Given the description of an element on the screen output the (x, y) to click on. 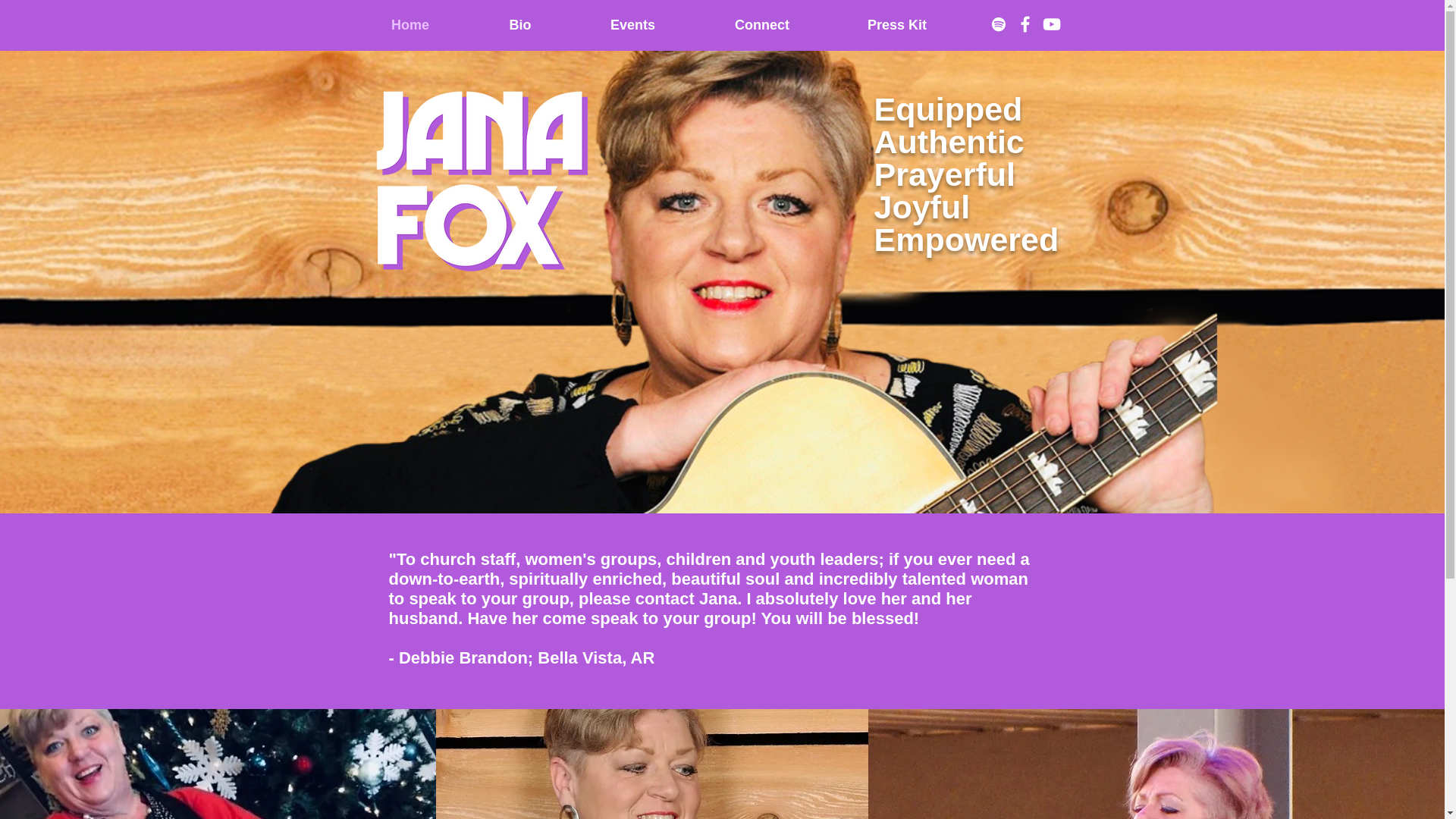
Home (409, 24)
Connect (761, 24)
Press Kit (897, 24)
Bio (520, 24)
Events (632, 24)
